Given the description of an element on the screen output the (x, y) to click on. 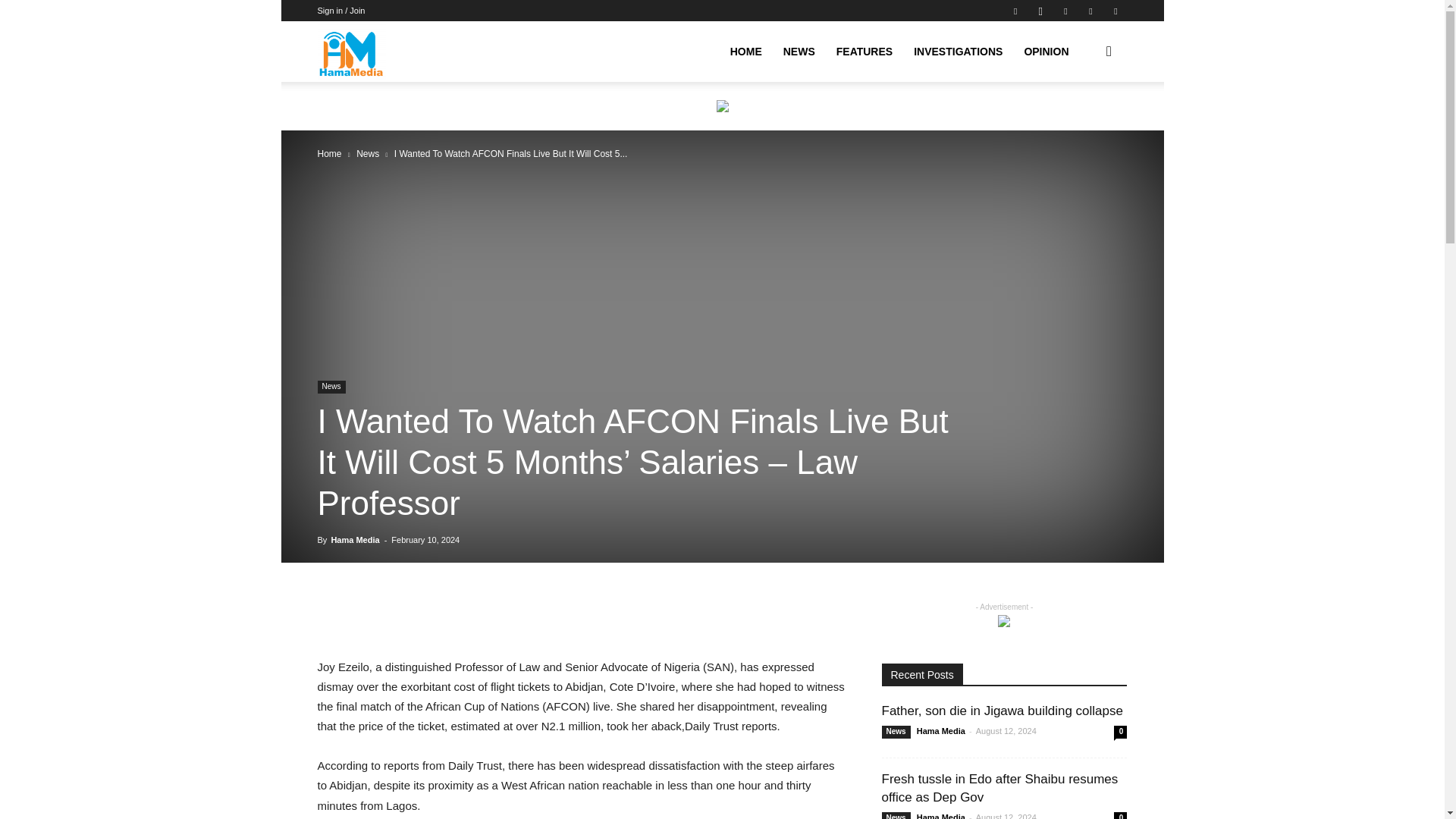
View all posts in News (367, 153)
FEATURES (863, 51)
Youtube (1114, 10)
Hama Media (351, 51)
Facebook (1015, 10)
INVESTIGATIONS (957, 51)
Search (1085, 124)
Twitter (1065, 10)
Home (328, 153)
Instagram (1040, 10)
